Given the description of an element on the screen output the (x, y) to click on. 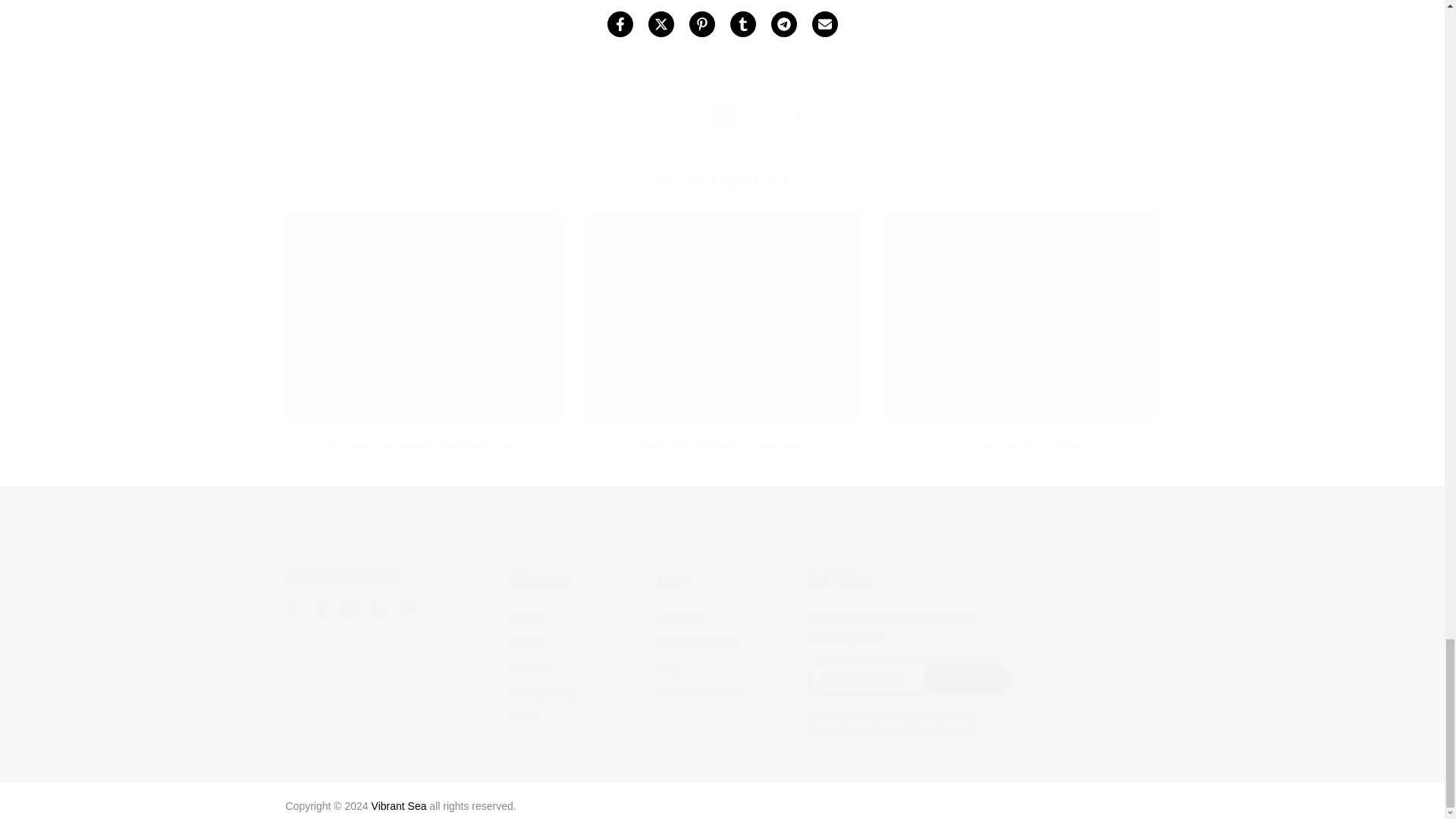
Share on Facebook (619, 23)
Share on Tumblr (742, 23)
Share on Pinterest (701, 23)
The Difference Between Sea Moss Colors (422, 445)
Share on Email (823, 23)
Back to Learn Sea Moss (722, 115)
Share on Telegram (783, 23)
Share on Twitter (659, 23)
Sea Moss Benefits For Hair (797, 115)
